Given the description of an element on the screen output the (x, y) to click on. 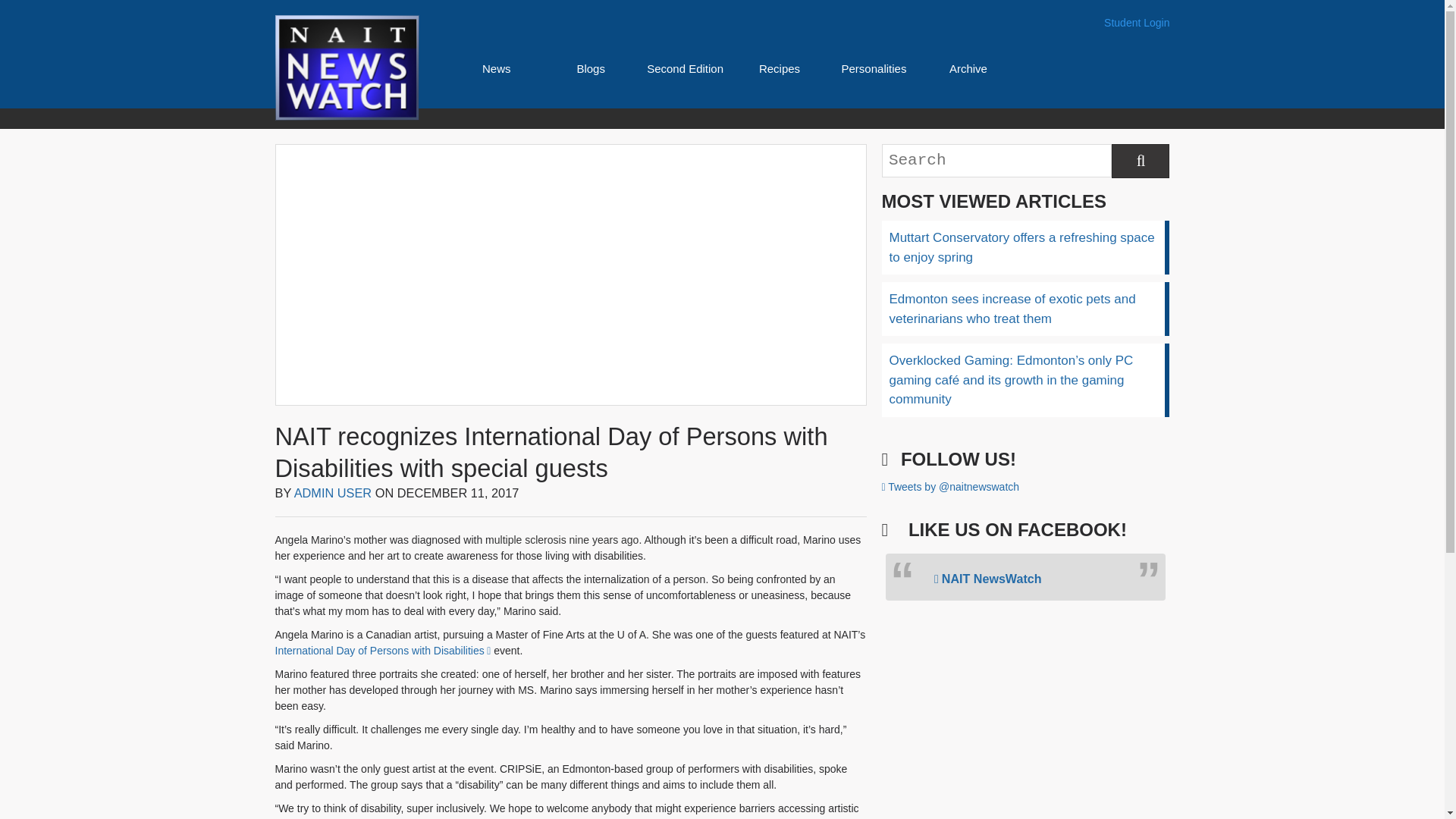
Second Edition (684, 68)
Recipes (778, 68)
Student Login (1136, 23)
ADMIN USER (333, 492)
Personalities (874, 68)
News (496, 68)
International Day of Persons with Disabilities (382, 650)
Archive (968, 68)
NAIT NewsWatch (988, 578)
